Given the description of an element on the screen output the (x, y) to click on. 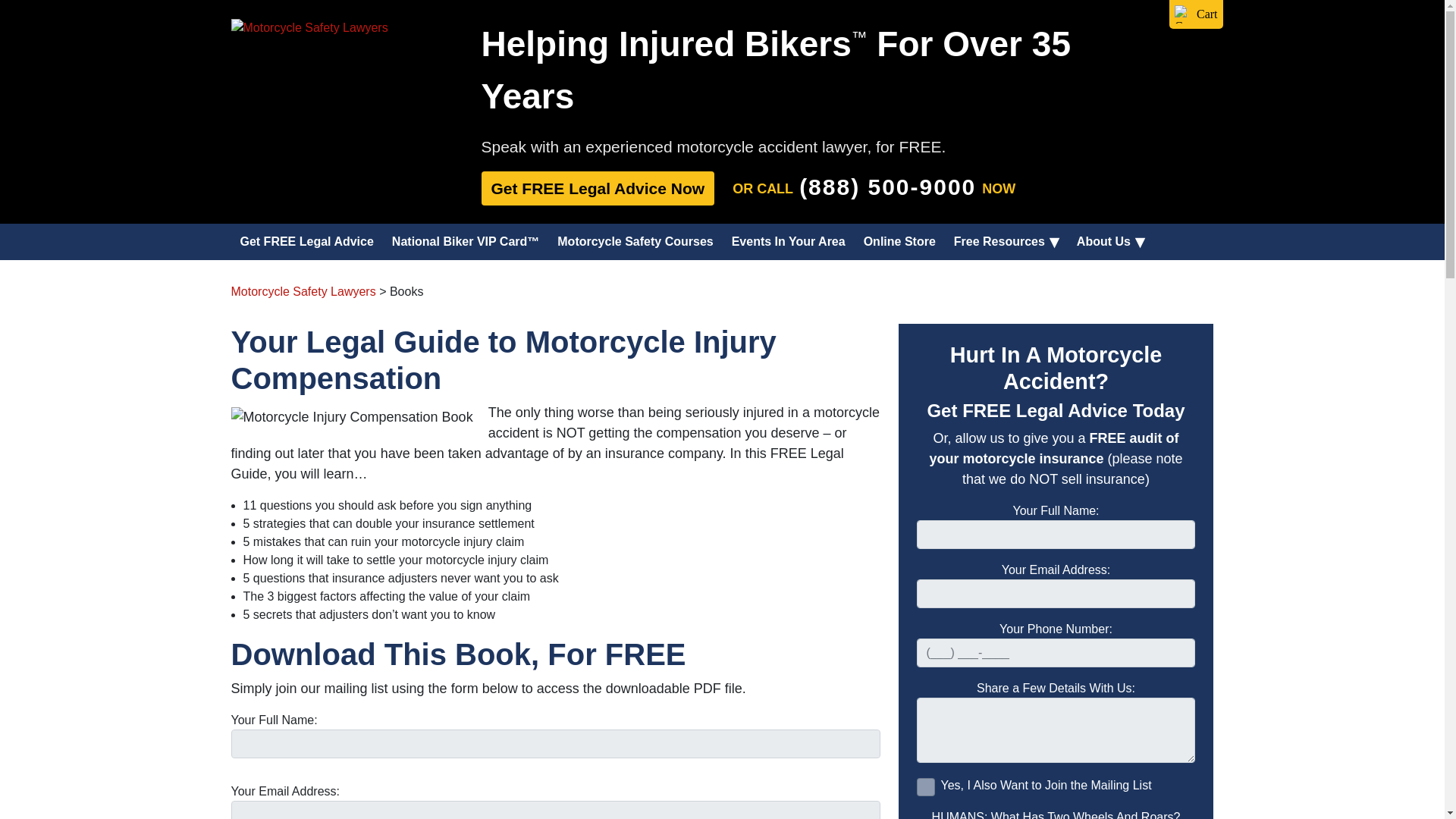
Cart (1195, 13)
Events In Your Area (788, 241)
Motorcycle Safety Courses (635, 241)
Free Resources (999, 241)
Online Store (899, 241)
About Us (1104, 241)
Get FREE Legal Advice (306, 241)
Get FREE Legal Advice Now (597, 188)
Motorcycle Safety Lawyers (302, 291)
Sign me up (924, 787)
